Given the description of an element on the screen output the (x, y) to click on. 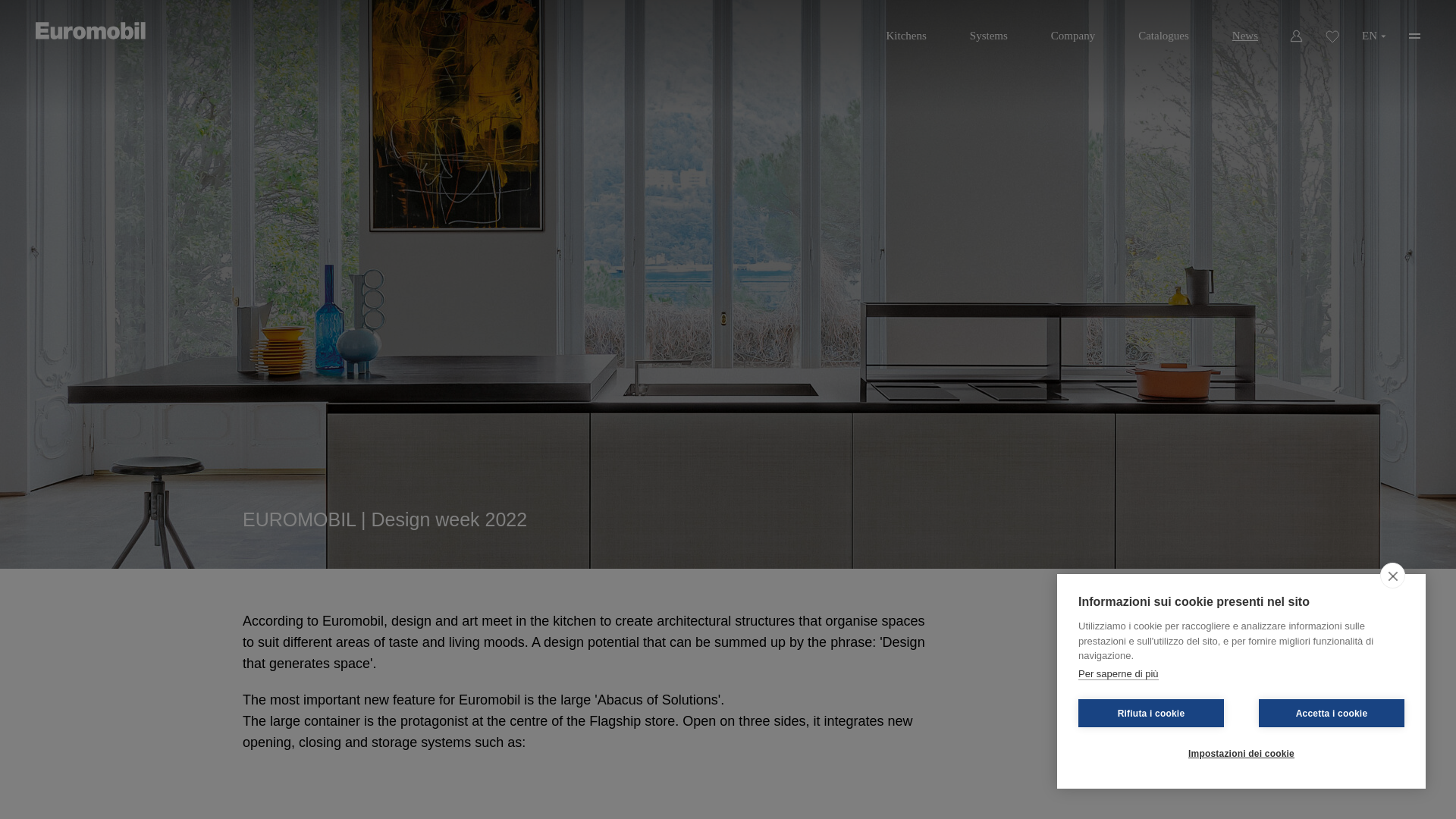
Systems (988, 30)
Company (1072, 30)
Kitchens (906, 30)
Catalogues (1162, 30)
